Given the description of an element on the screen output the (x, y) to click on. 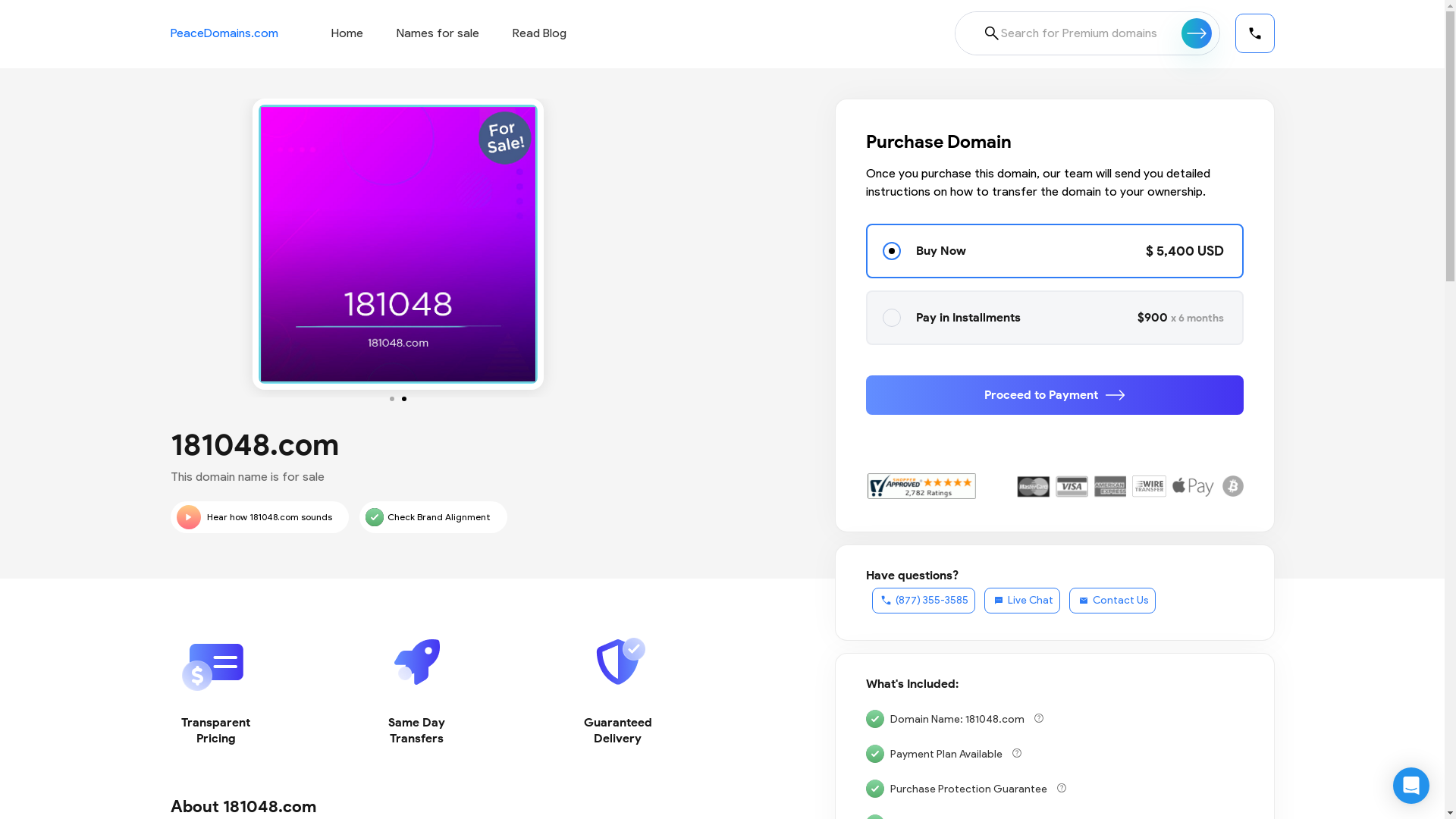
PeaceDomains.com Element type: text (223, 33)
Live Chat Element type: text (1022, 600)
Buy Now
$ 5,400 USD Element type: text (1054, 250)
Contact Us Element type: text (1112, 600)
Names for sale Element type: text (436, 33)
Read Blog Element type: text (539, 33)
Proceed to Payment Element type: text (1054, 394)
(877) 355-3585 Element type: text (923, 600)
Check Brand Alignment Element type: text (433, 517)
Hear how 181048.com sounds Element type: text (258, 517)
Home Element type: text (346, 33)
